Given the description of an element on the screen output the (x, y) to click on. 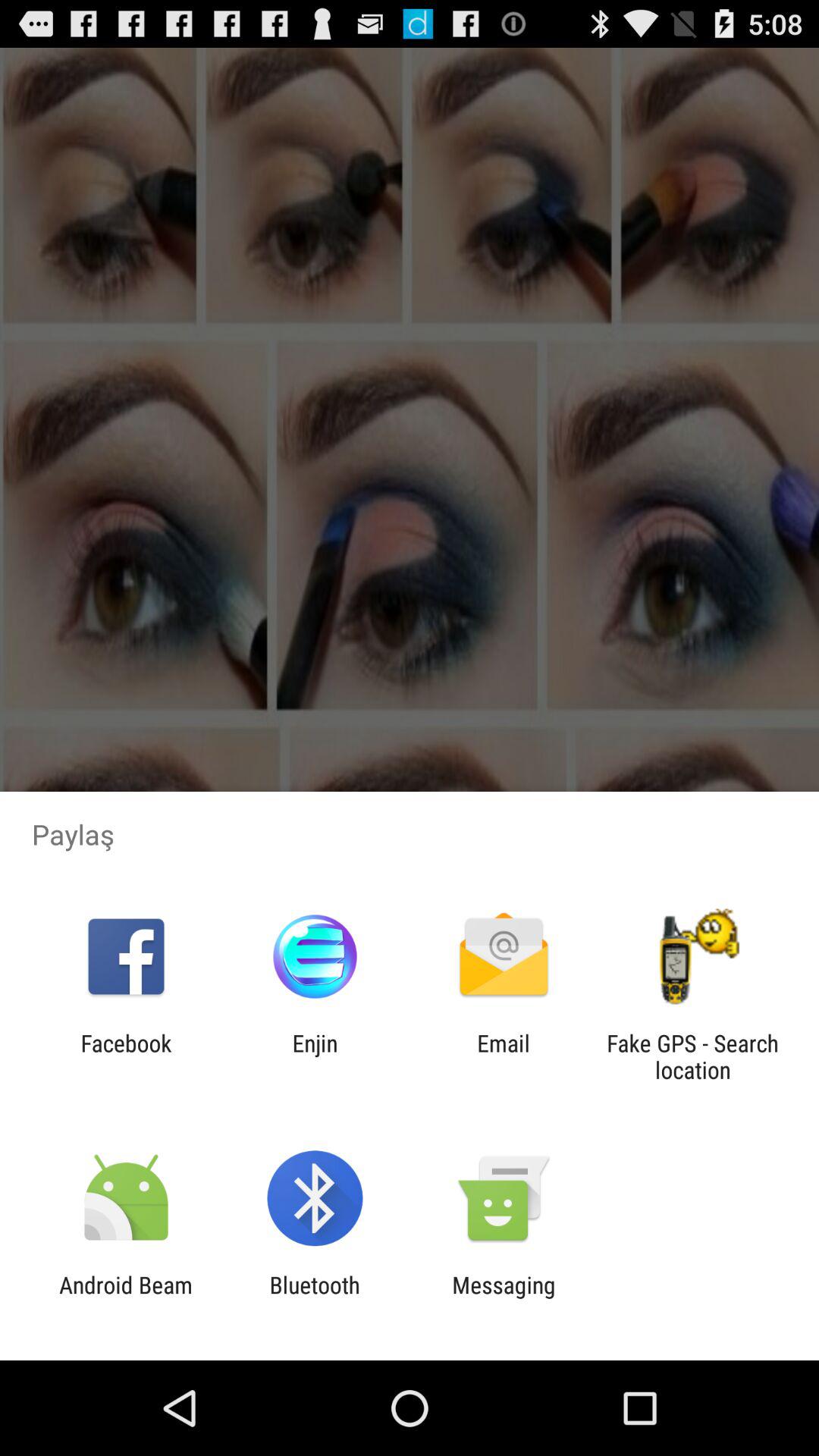
jump until the bluetooth app (314, 1298)
